Given the description of an element on the screen output the (x, y) to click on. 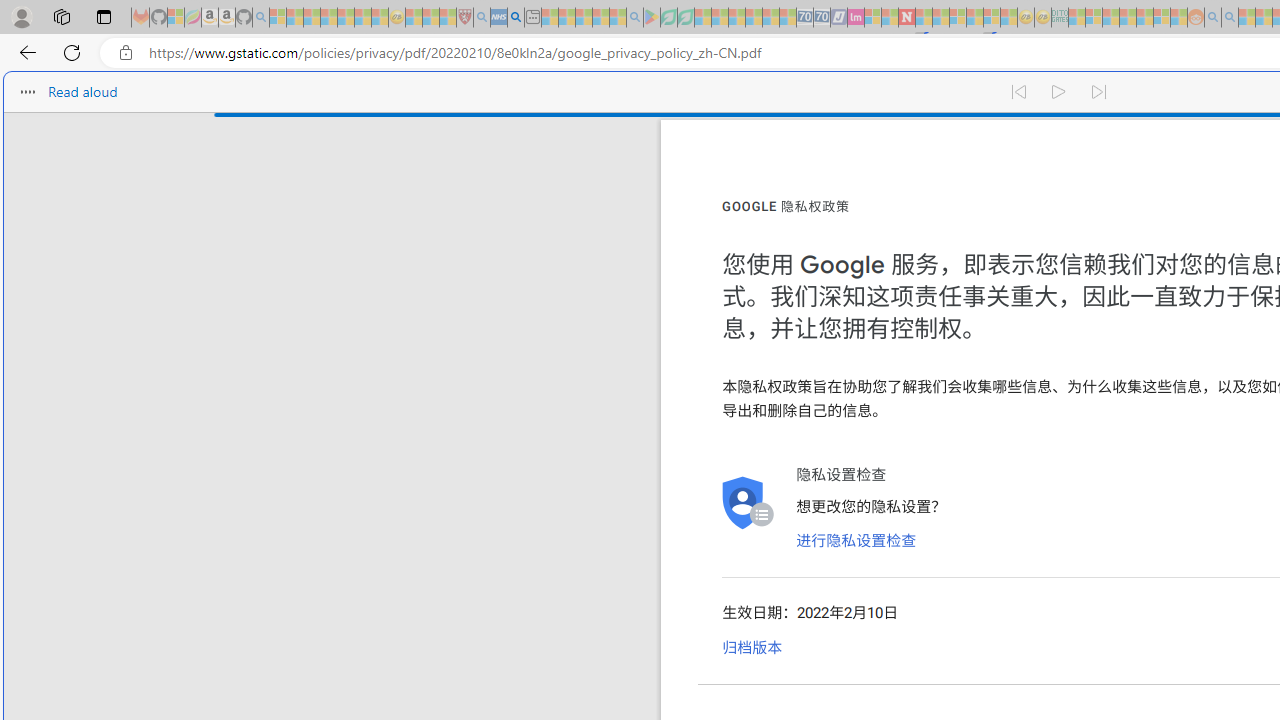
Terms of Use Agreement - Sleeping (668, 17)
google - Search - Sleeping (634, 17)
Expert Portfolios - Sleeping (1128, 17)
